Given the description of an element on the screen output the (x, y) to click on. 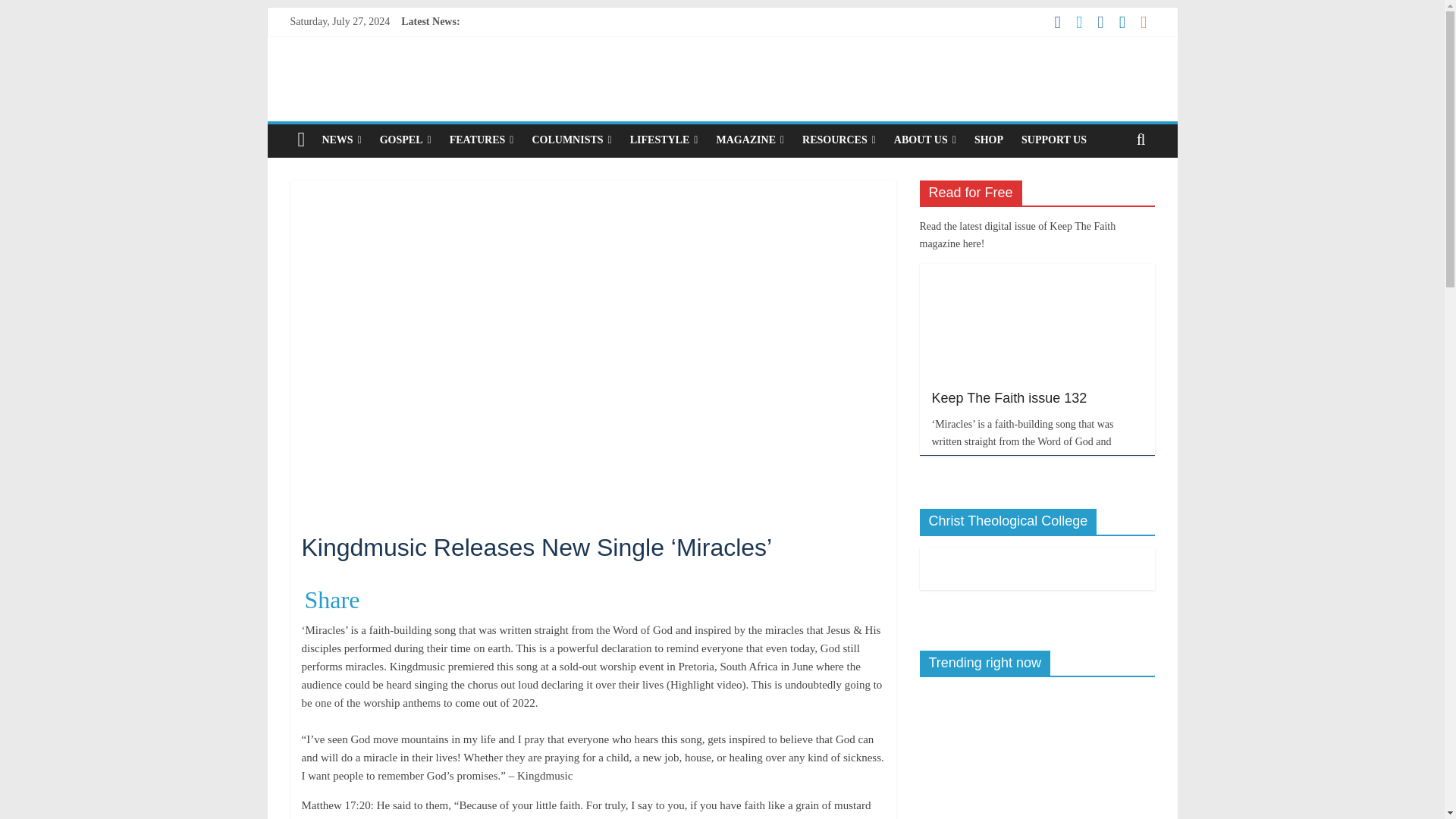
COLUMNISTS (571, 140)
NEWS (341, 140)
GOSPEL (406, 140)
LIFESTYLE (664, 140)
FEATURES (481, 140)
